Given the description of an element on the screen output the (x, y) to click on. 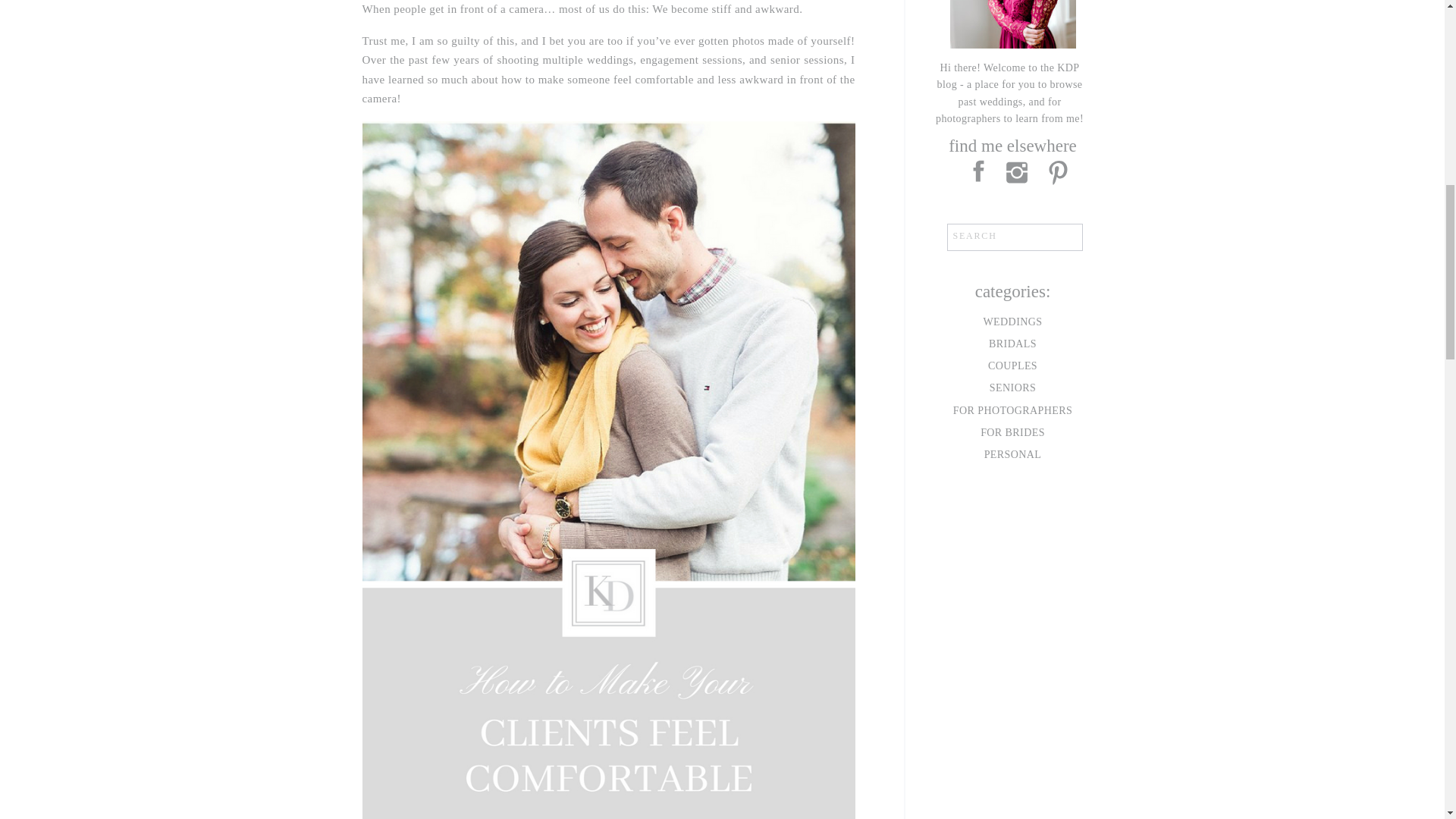
FOR PHOTOGRAPHERS (1013, 410)
WEDDINGS (1013, 321)
COUPLES (1013, 365)
SENIORS (1013, 388)
BRIDALS (1013, 343)
PERSONAL (1013, 454)
FOR BRIDES (1013, 433)
